Given the description of an element on the screen output the (x, y) to click on. 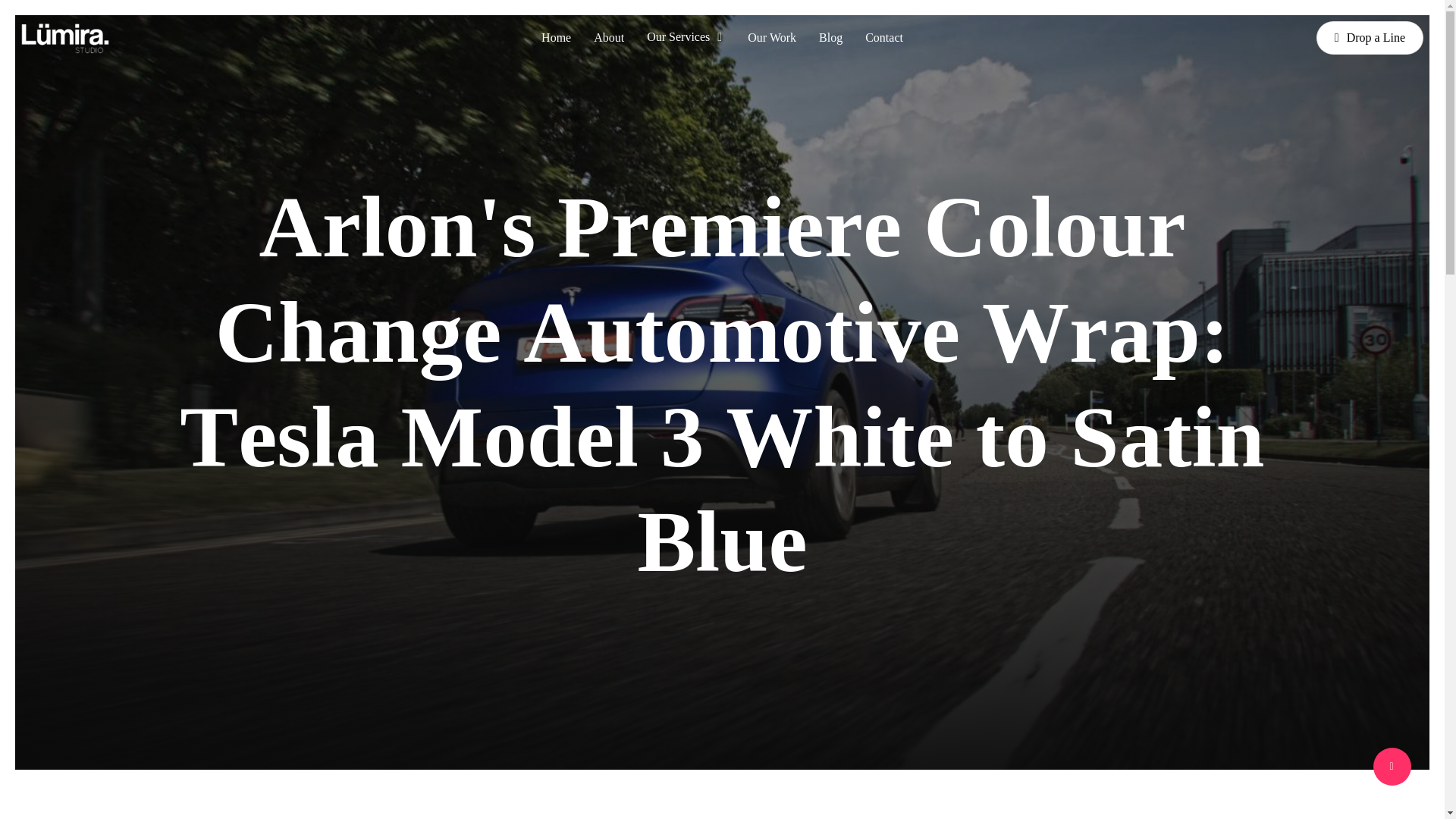
Our Work (772, 37)
Drop a Line (1369, 37)
About (609, 37)
Our Services (685, 37)
Blog (830, 37)
Contact (883, 37)
Home (555, 37)
